Given the description of an element on the screen output the (x, y) to click on. 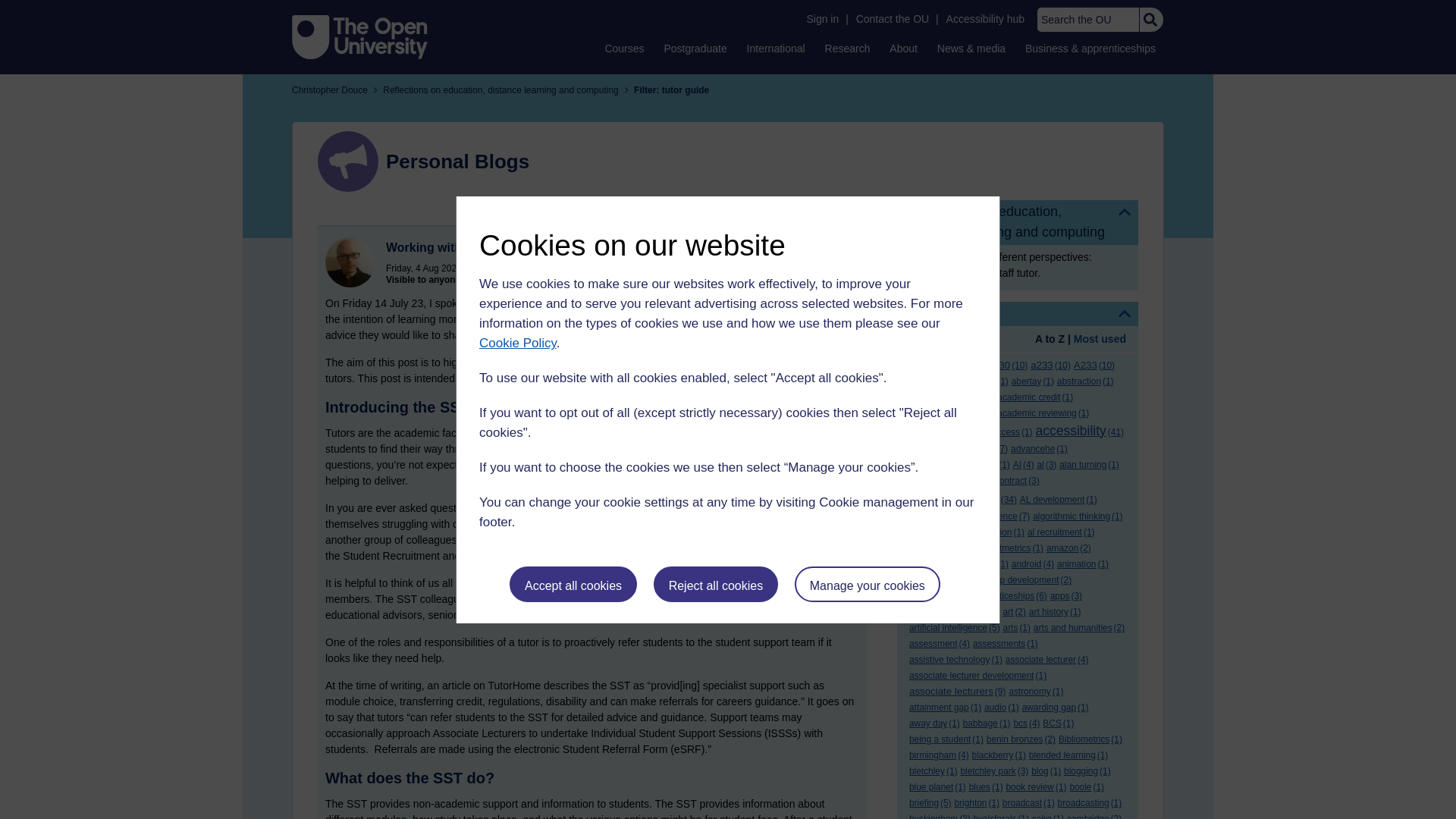
Search (1149, 19)
Sign in (822, 19)
Research (847, 48)
Contact the OU (892, 19)
Tags (1017, 313)
Reject all cookies (715, 583)
Accept all cookies (573, 583)
Reflections on education, distance learning and computing (1017, 221)
The Open University (360, 36)
